Given the description of an element on the screen output the (x, y) to click on. 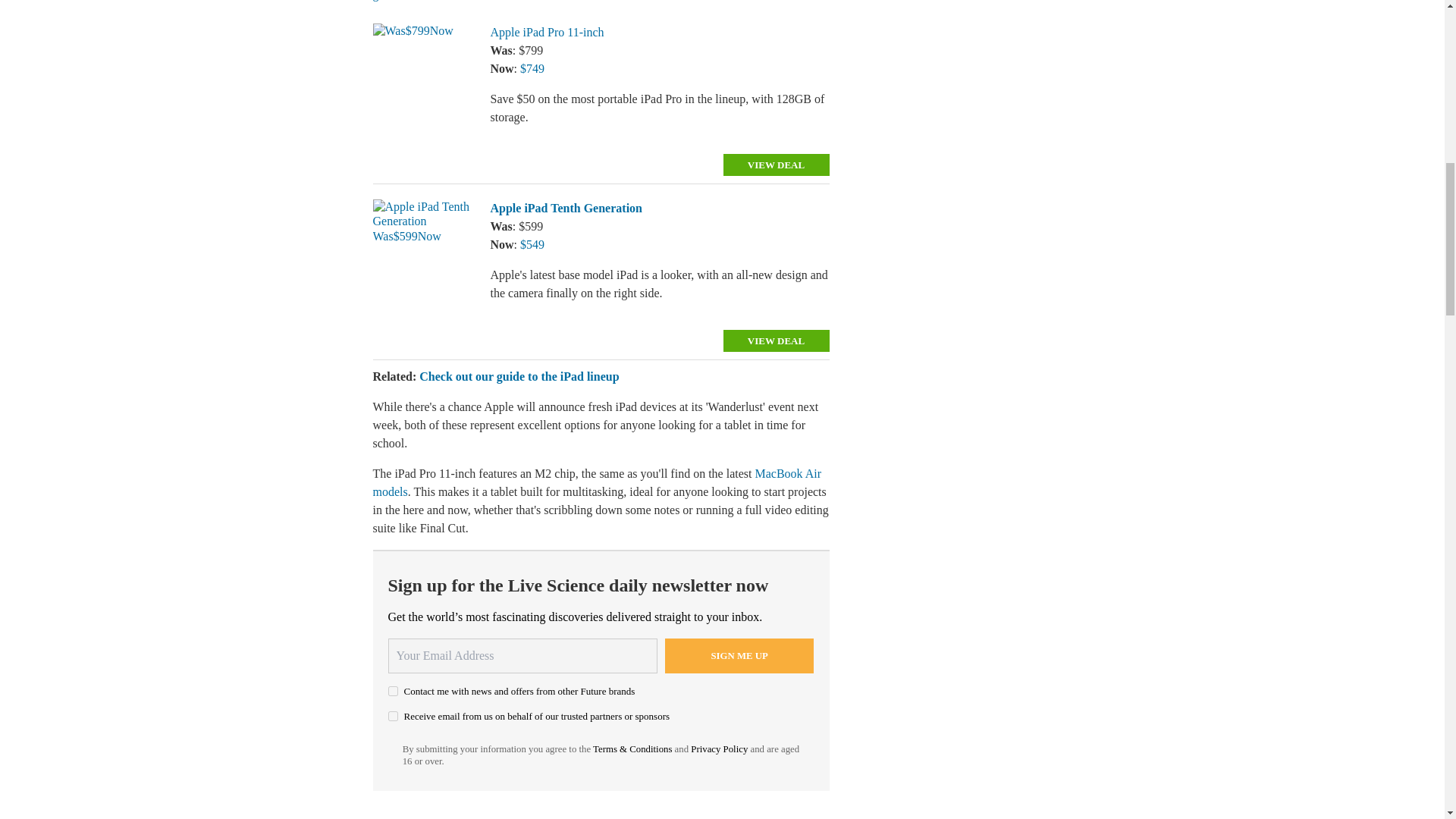
on (392, 691)
Sign me up (739, 655)
on (392, 716)
